Given the description of an element on the screen output the (x, y) to click on. 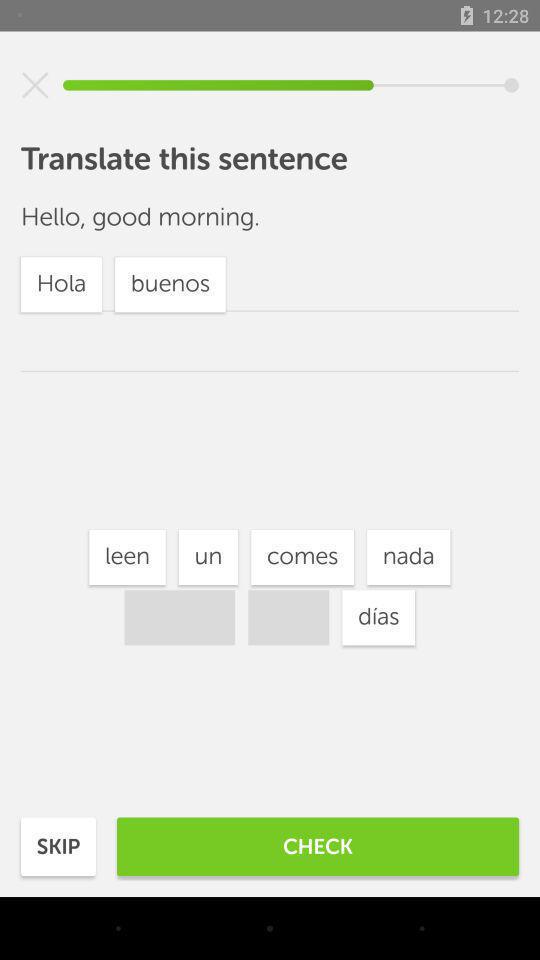
launch the item next to the skip item (318, 846)
